Given the description of an element on the screen output the (x, y) to click on. 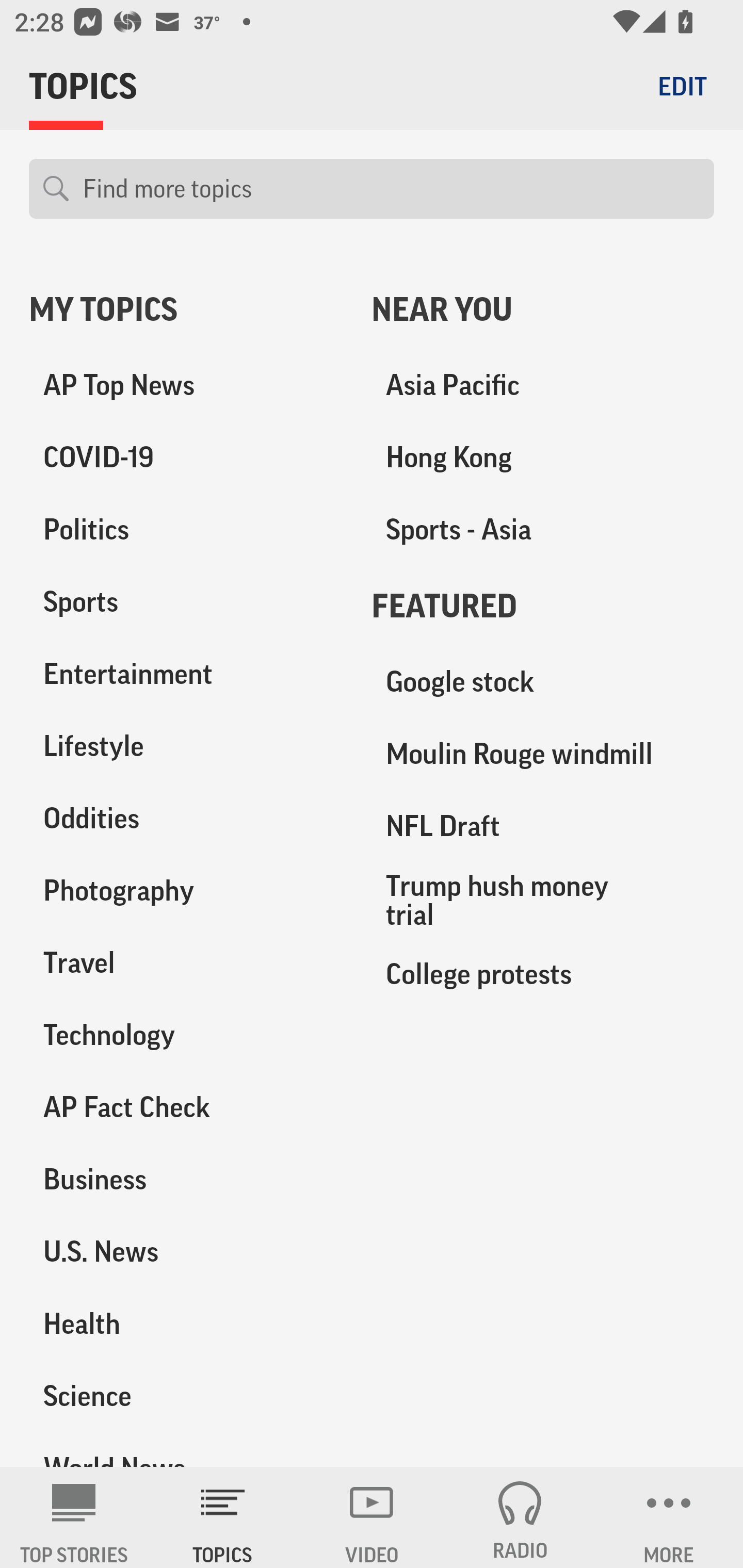
EDIT (682, 86)
Find more topics (391, 188)
AP Top News (185, 385)
Asia Pacific (542, 385)
COVID-19 (185, 457)
Hong Kong (542, 457)
Politics (185, 529)
Sports - Asia (542, 529)
Sports (185, 602)
Entertainment (185, 674)
Google stock (542, 682)
Lifestyle (185, 746)
Moulin Rouge windmill (542, 754)
Oddities (185, 818)
NFL Draft (542, 826)
Photography (185, 890)
Trump hush money trial (542, 899)
Travel (185, 962)
College protests (542, 973)
Technology (185, 1034)
AP Fact Check (185, 1106)
Business (185, 1179)
U.S. News (185, 1251)
Health (185, 1323)
Science (185, 1395)
AP News TOP STORIES (74, 1517)
TOPICS (222, 1517)
VIDEO (371, 1517)
RADIO (519, 1517)
MORE (668, 1517)
